Given the description of an element on the screen output the (x, y) to click on. 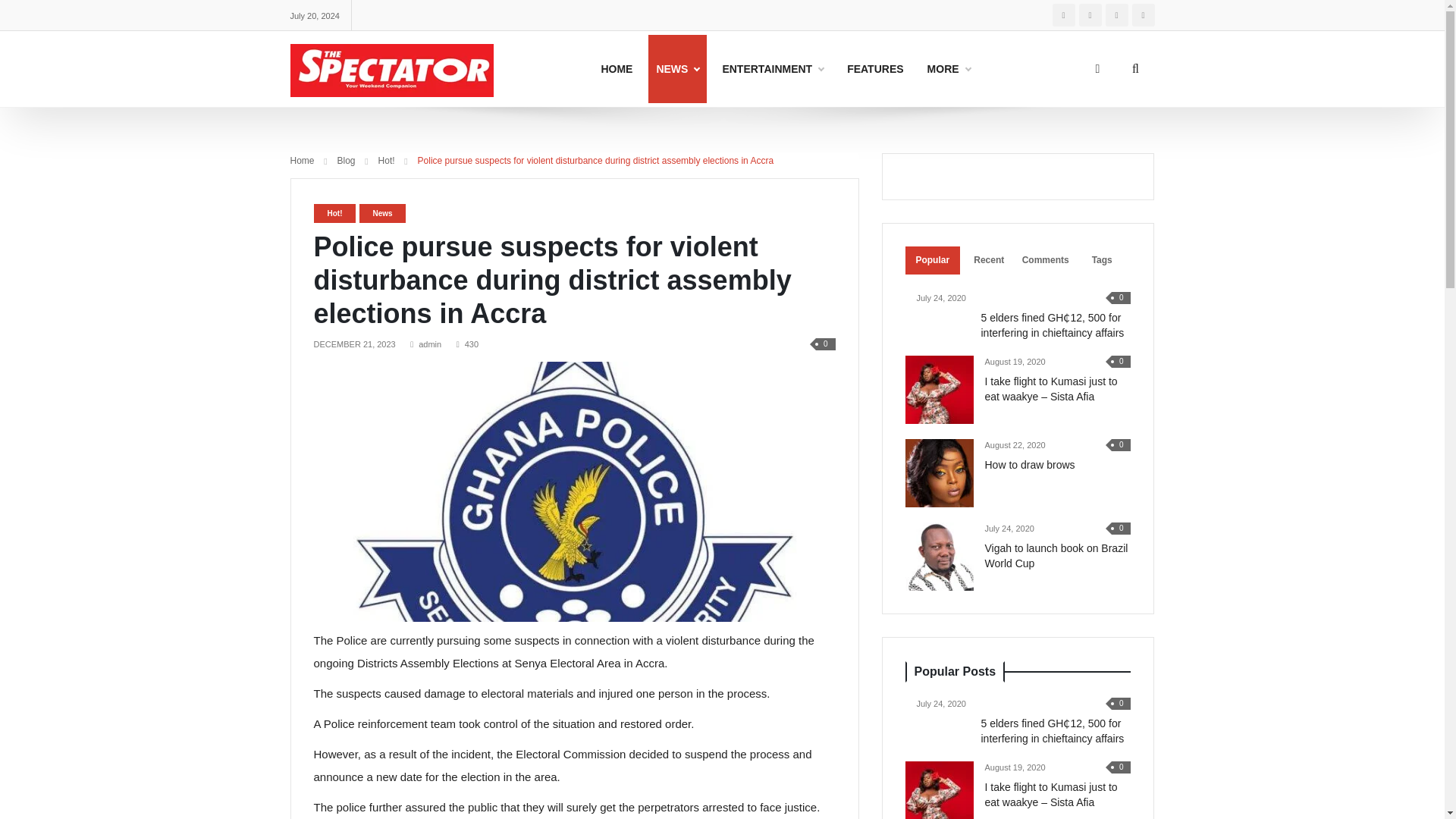
Facebook (1142, 15)
Entertainment (772, 69)
Twitter (1089, 15)
News (381, 212)
Youtube (1116, 15)
Home (301, 160)
Blog (346, 160)
The Spectator (391, 68)
Hot! (386, 160)
Hot! (334, 212)
Instagram (721, 69)
ENTERTAINMENT (1063, 15)
FEATURES (772, 69)
Features (874, 69)
